Given the description of an element on the screen output the (x, y) to click on. 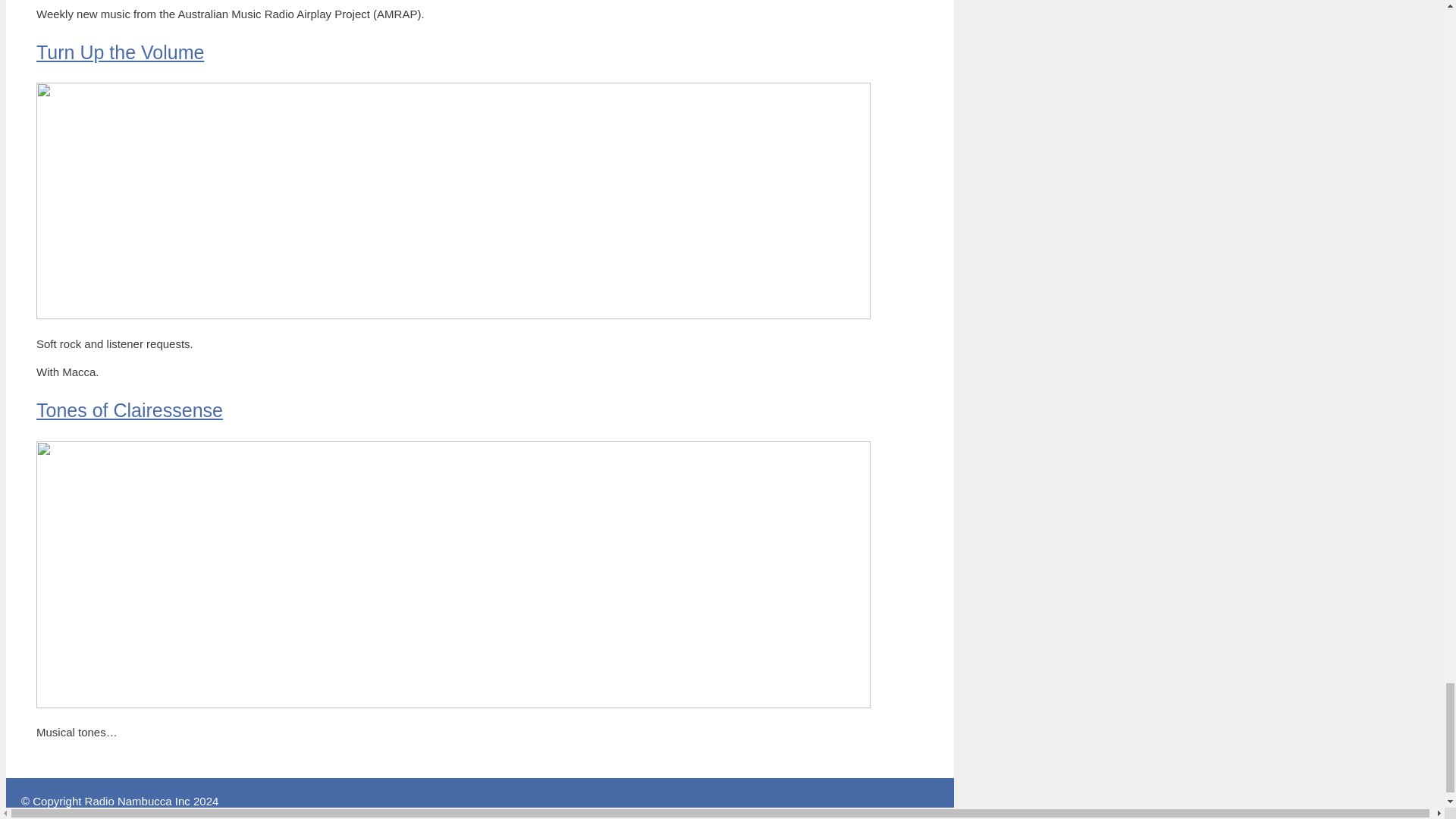
Turn Up the Volume (119, 52)
Tones of Clairessense (129, 409)
